Given the description of an element on the screen output the (x, y) to click on. 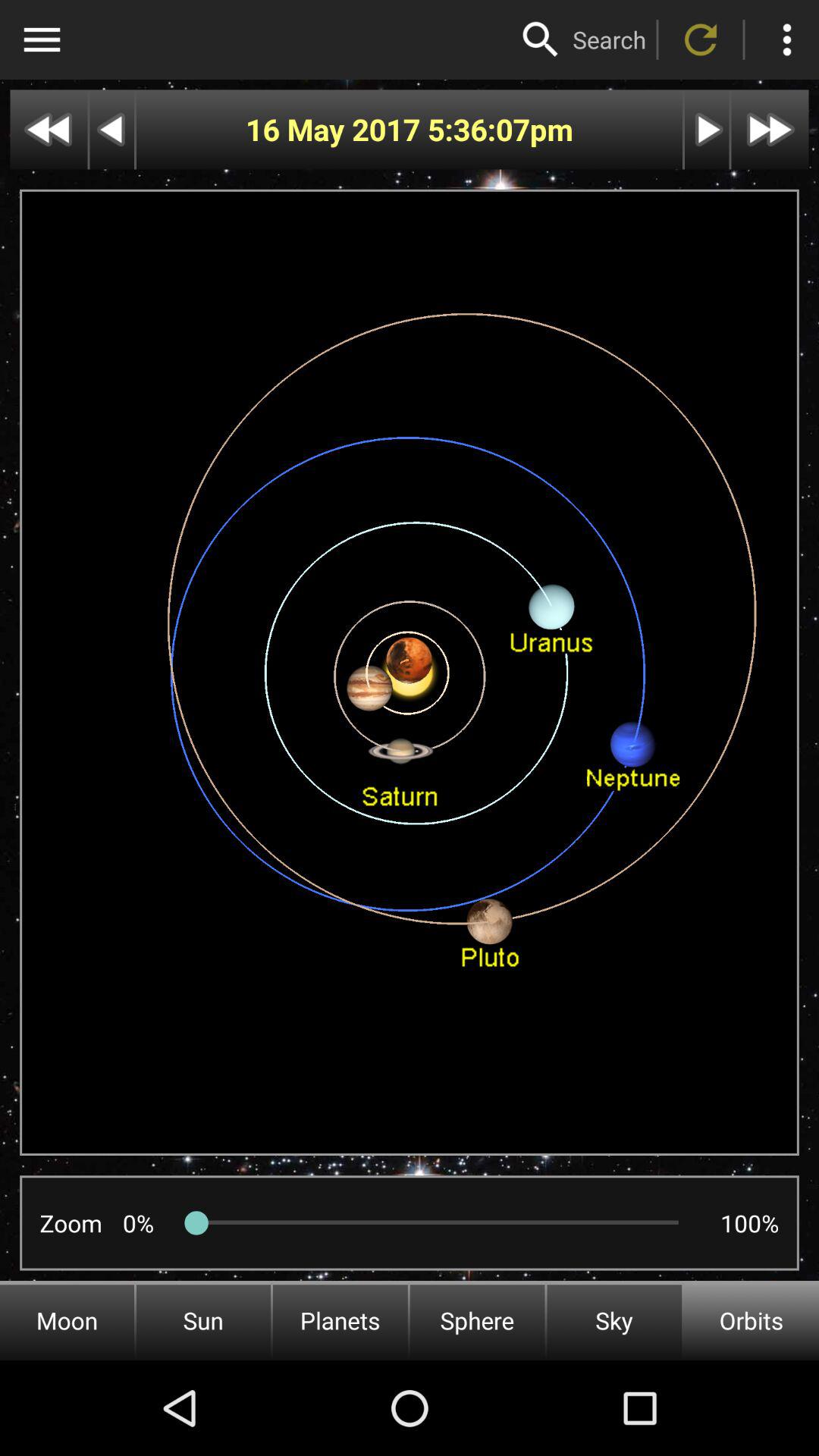
play (706, 129)
